Given the description of an element on the screen output the (x, y) to click on. 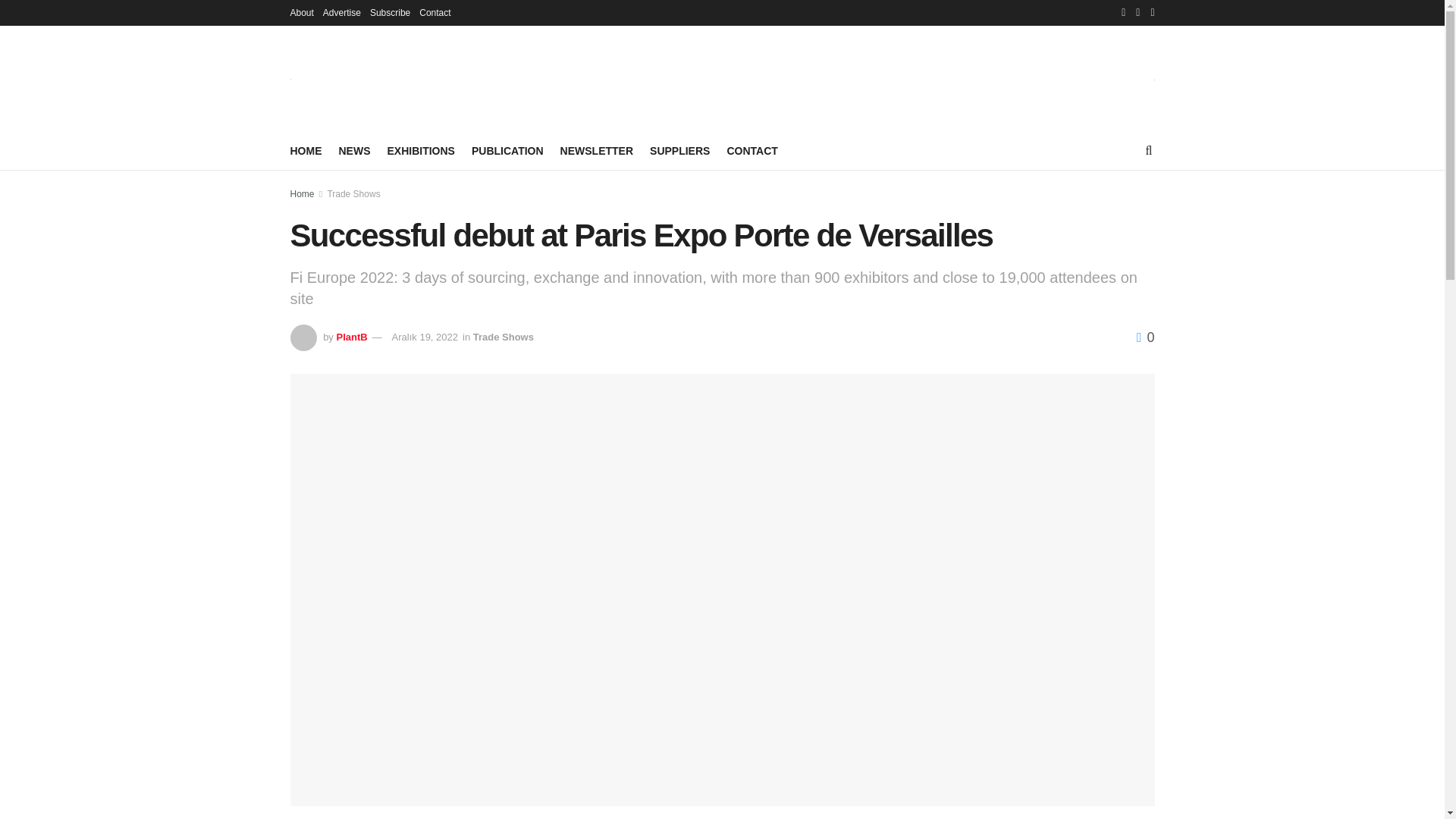
Contact (434, 12)
Trade Shows (353, 194)
CONTACT (751, 150)
HOME (305, 150)
Trade Shows (503, 337)
PlantB (351, 337)
Home (301, 194)
EXHIBITIONS (420, 150)
NEWSLETTER (596, 150)
Subscribe (389, 12)
